Given the description of an element on the screen output the (x, y) to click on. 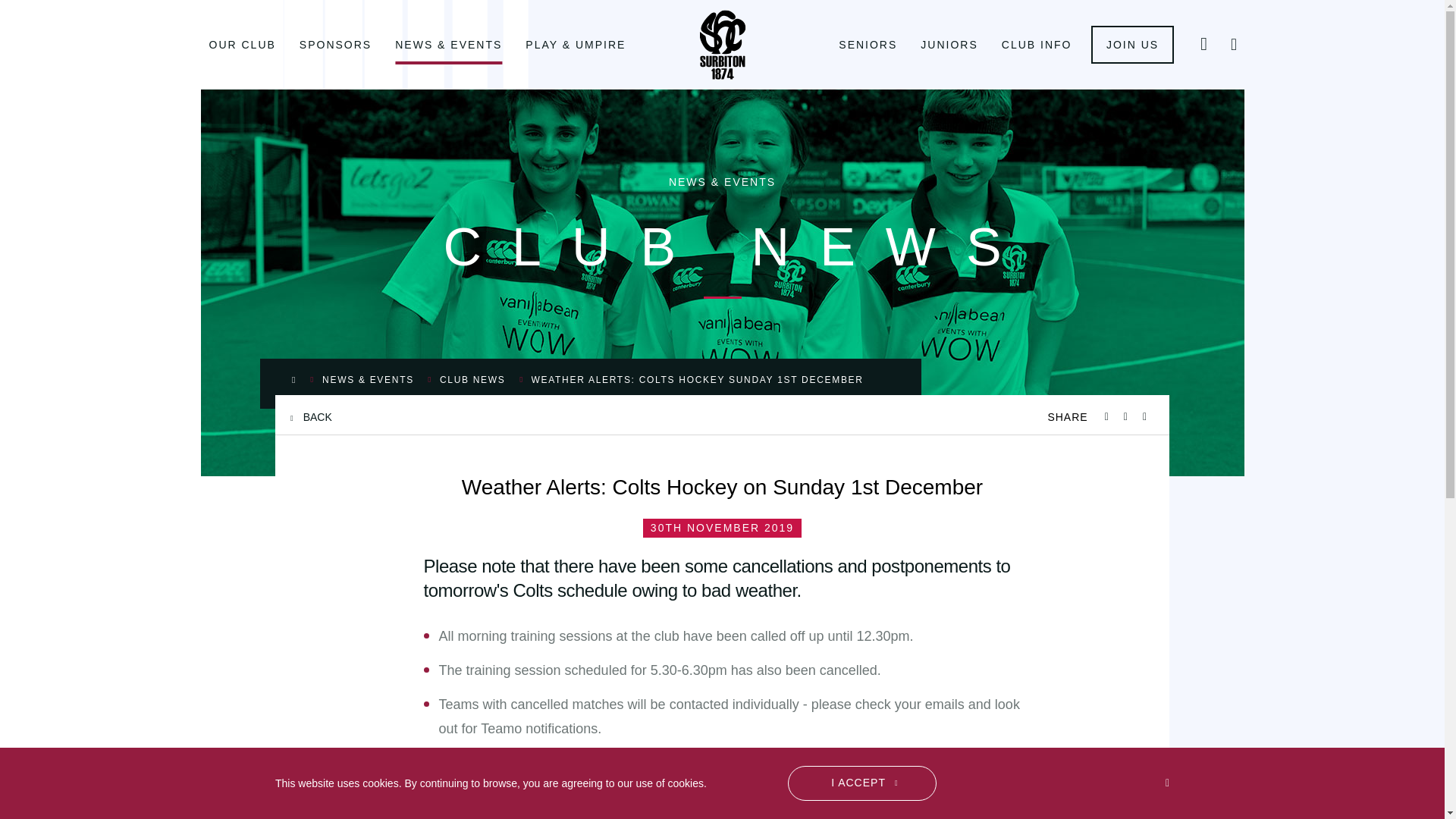
OUR CLUB (241, 44)
I ACCEPT (861, 782)
SPONSORS (334, 44)
